Given the description of an element on the screen output the (x, y) to click on. 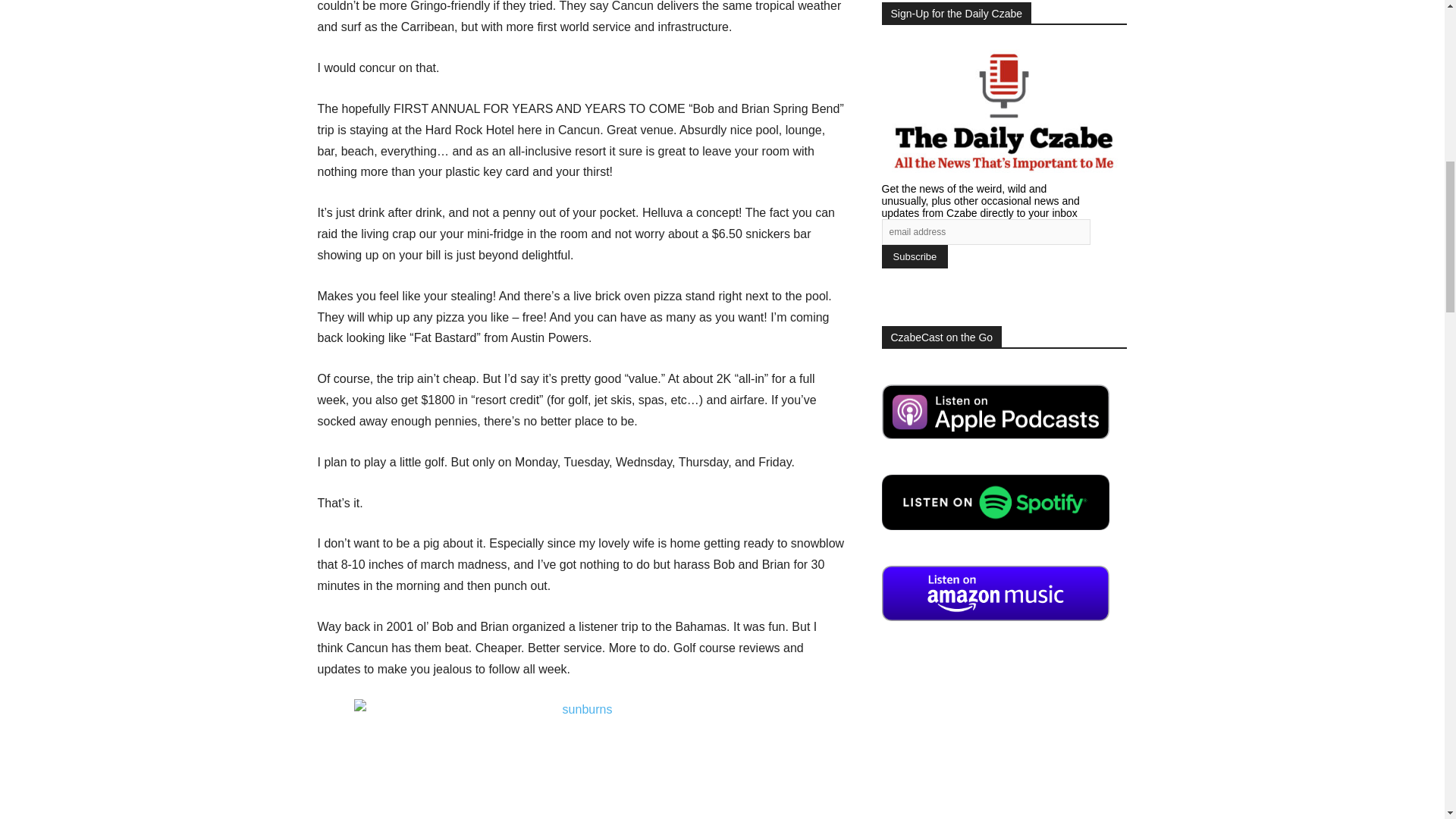
Subscribe (913, 256)
